Given the description of an element on the screen output the (x, y) to click on. 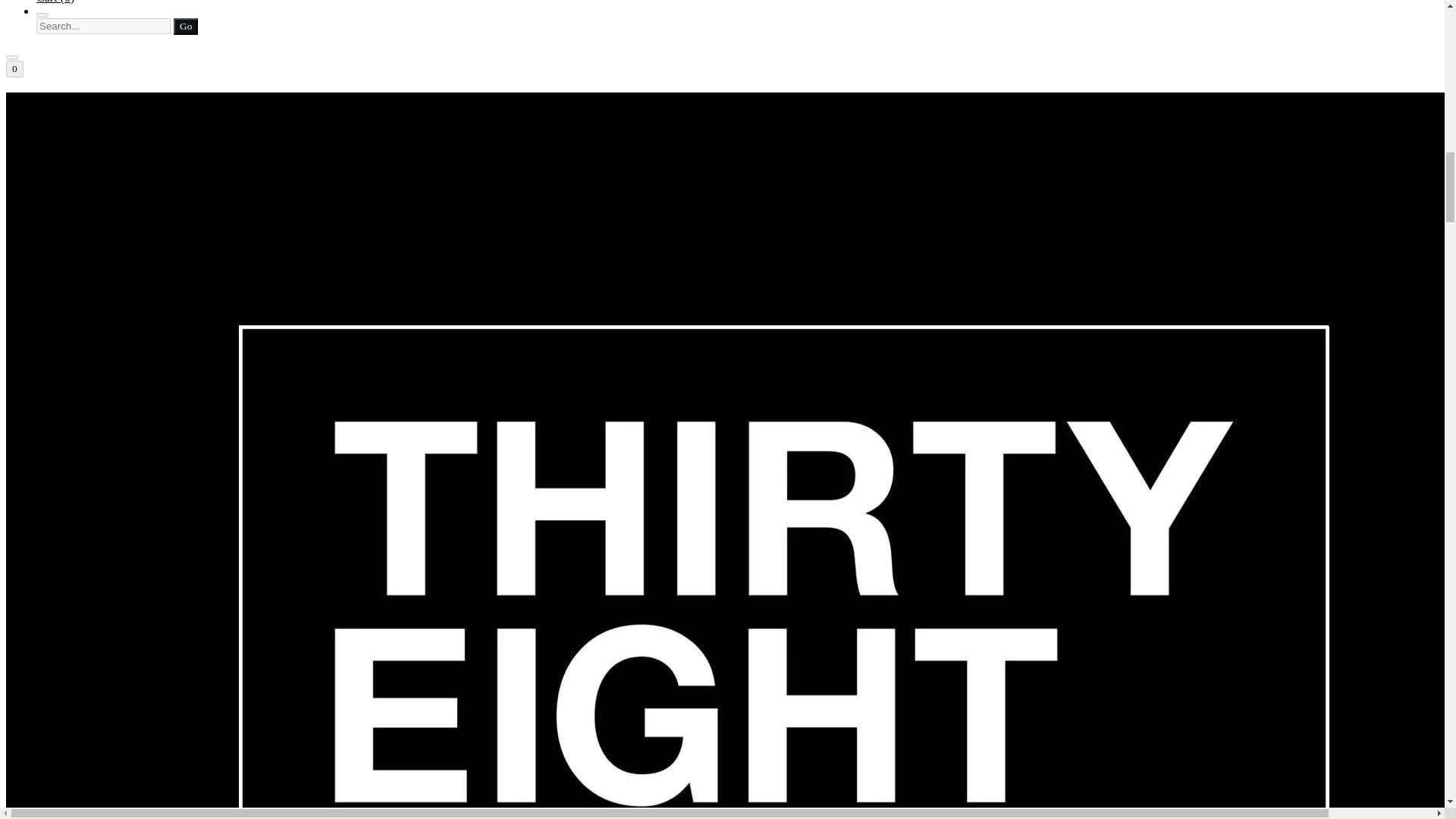
Go (185, 26)
Go (185, 26)
0 (14, 68)
